Given the description of an element on the screen output the (x, y) to click on. 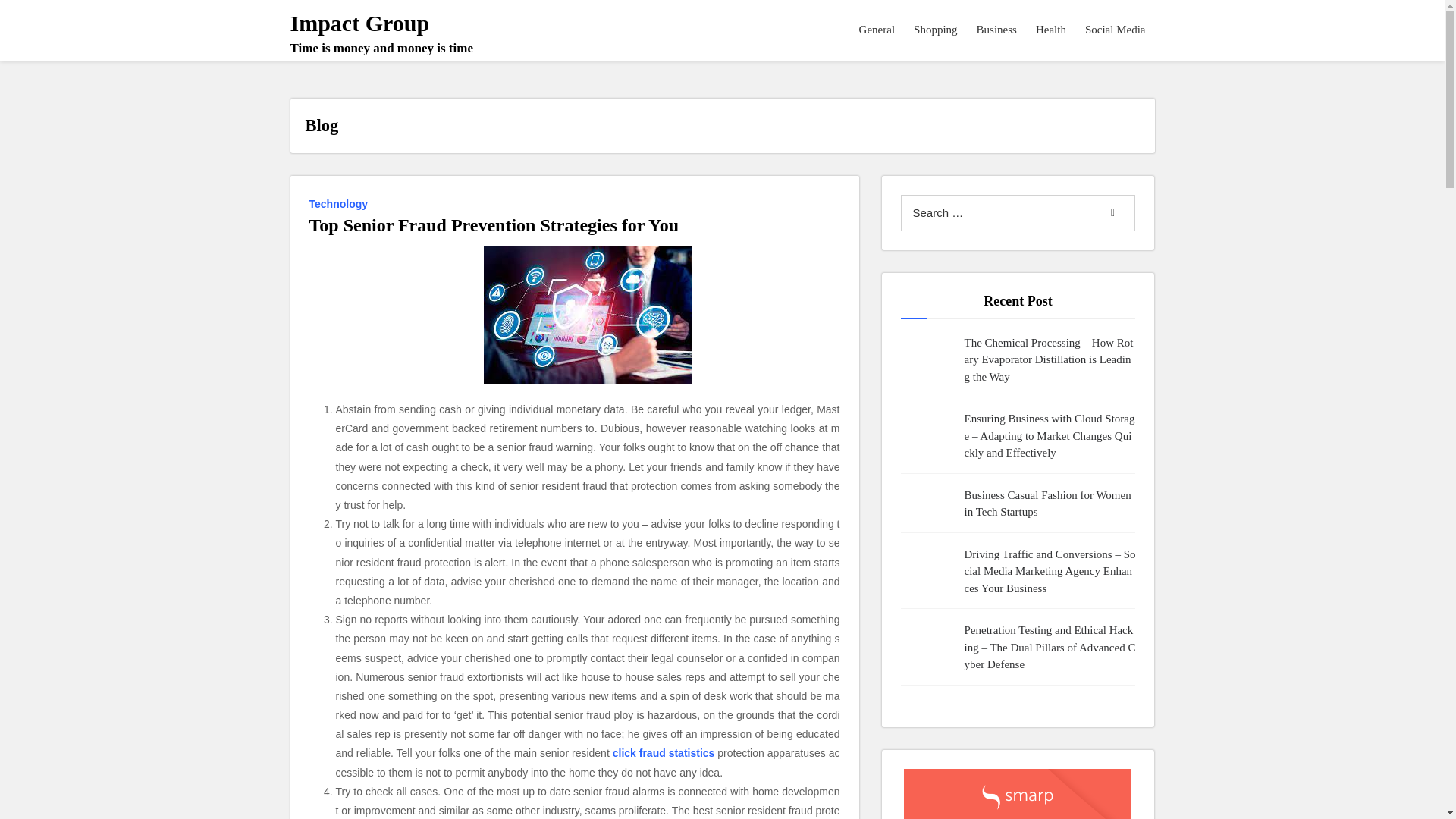
Shopping (936, 29)
Shopping (380, 32)
Social Media (936, 29)
Technology (1115, 29)
Business Casual Fashion for Women in Tech Startups (340, 203)
Social Media (1049, 503)
click fraud statistics (1115, 29)
Business (663, 752)
General (997, 29)
